Given the description of an element on the screen output the (x, y) to click on. 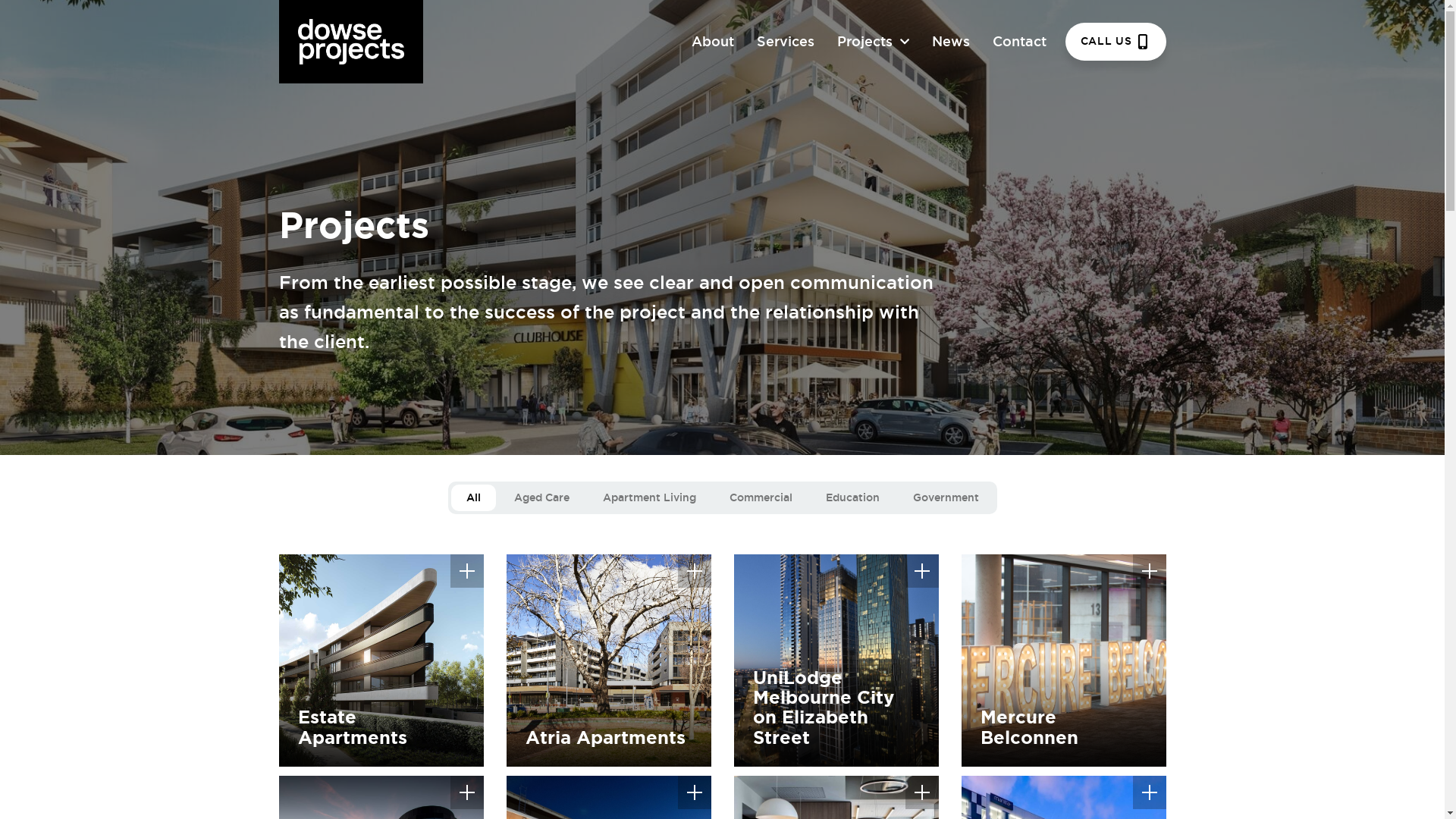
Commercial Element type: text (760, 497)
Government Element type: text (945, 497)
Apartment Living Element type: text (648, 497)
Contact Element type: text (1019, 41)
Services Element type: text (785, 41)
Estate Apartments Element type: text (381, 660)
News Element type: text (950, 41)
About Element type: text (712, 41)
CALL US Element type: text (1115, 41)
All Element type: text (472, 497)
Projects Element type: text (864, 41)
Aged Care Element type: text (541, 497)
Education Element type: text (851, 497)
Mercure Belconnen Element type: text (1063, 660)
Atria Apartments Element type: text (608, 660)
UniLodge Melbourne City on Elizabeth Street Element type: text (836, 660)
